Given the description of an element on the screen output the (x, y) to click on. 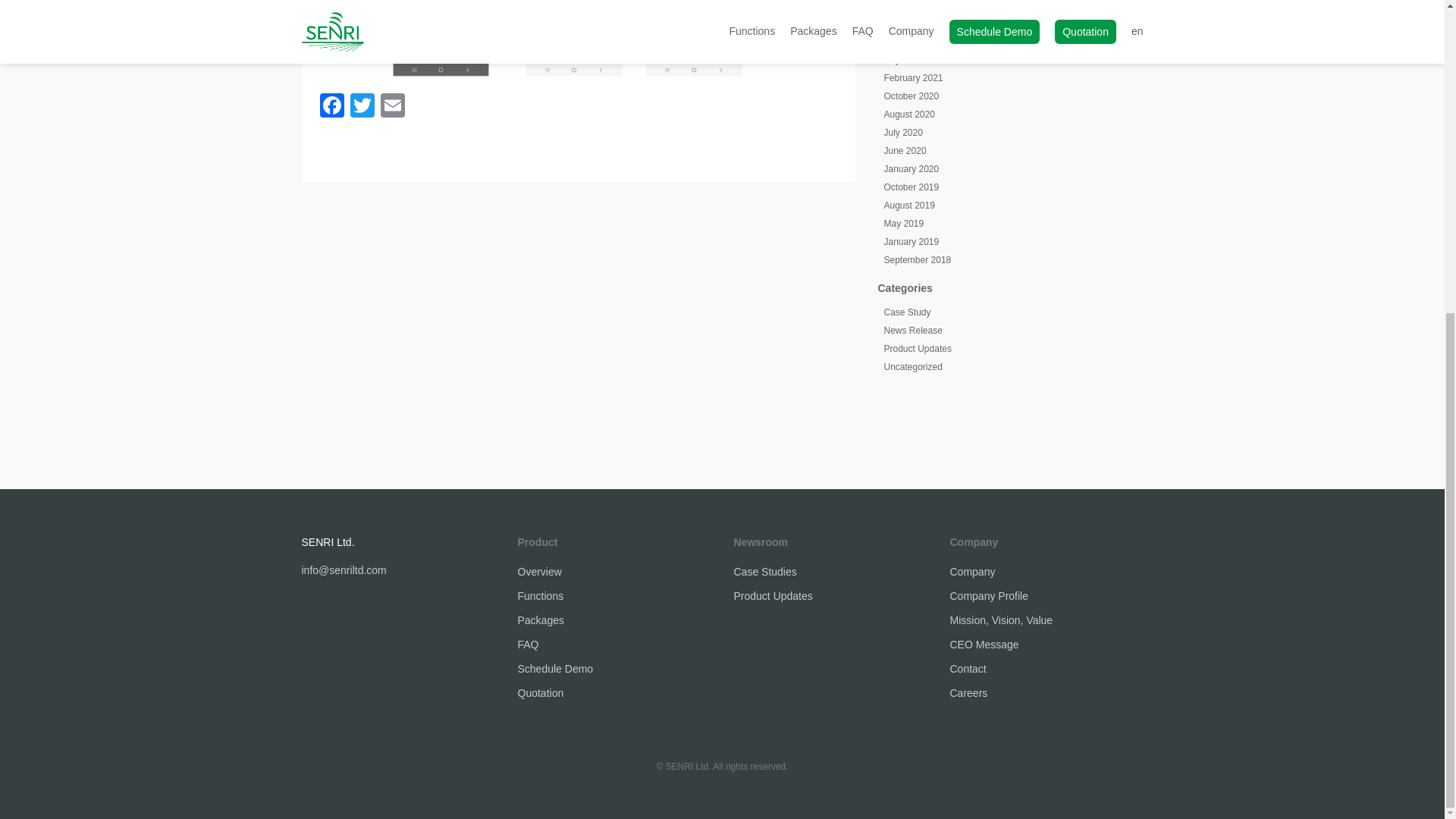
Email (392, 107)
Facebook (332, 107)
July 2021 (903, 59)
Facebook (332, 107)
August 2021 (908, 41)
Twitter (362, 107)
Email (392, 107)
September 2021 (917, 23)
Twitter (362, 107)
October 2020 (911, 95)
